Given the description of an element on the screen output the (x, y) to click on. 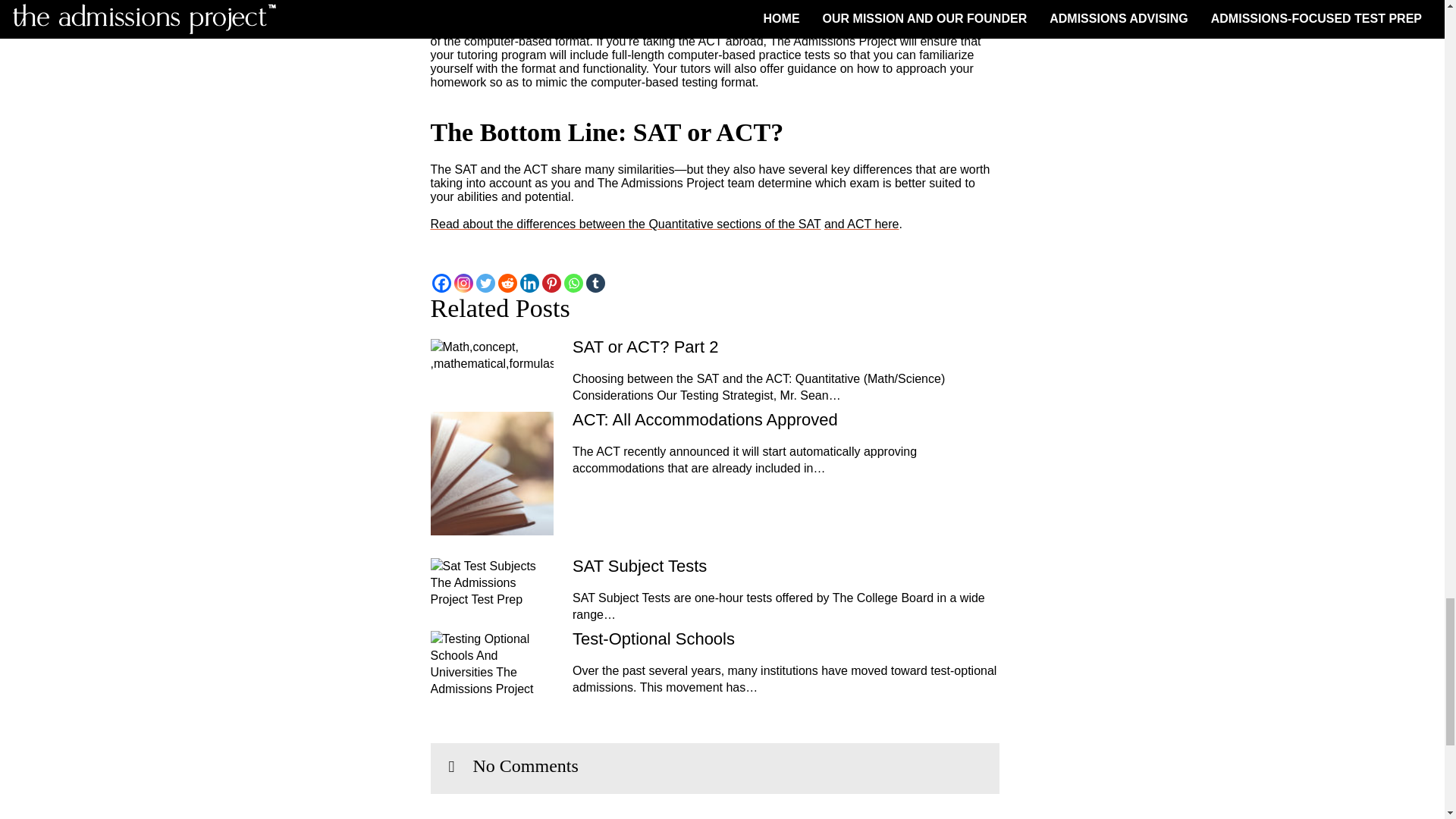
Reddit (506, 282)
Twitter (485, 282)
Tumblr (594, 282)
SAT Subject Tests (785, 565)
ACT: All Accommodations Approved (785, 419)
Pinterest (550, 282)
Facebook (441, 282)
Instagram (461, 282)
Test-Optional Schools (785, 638)
